Given the description of an element on the screen output the (x, y) to click on. 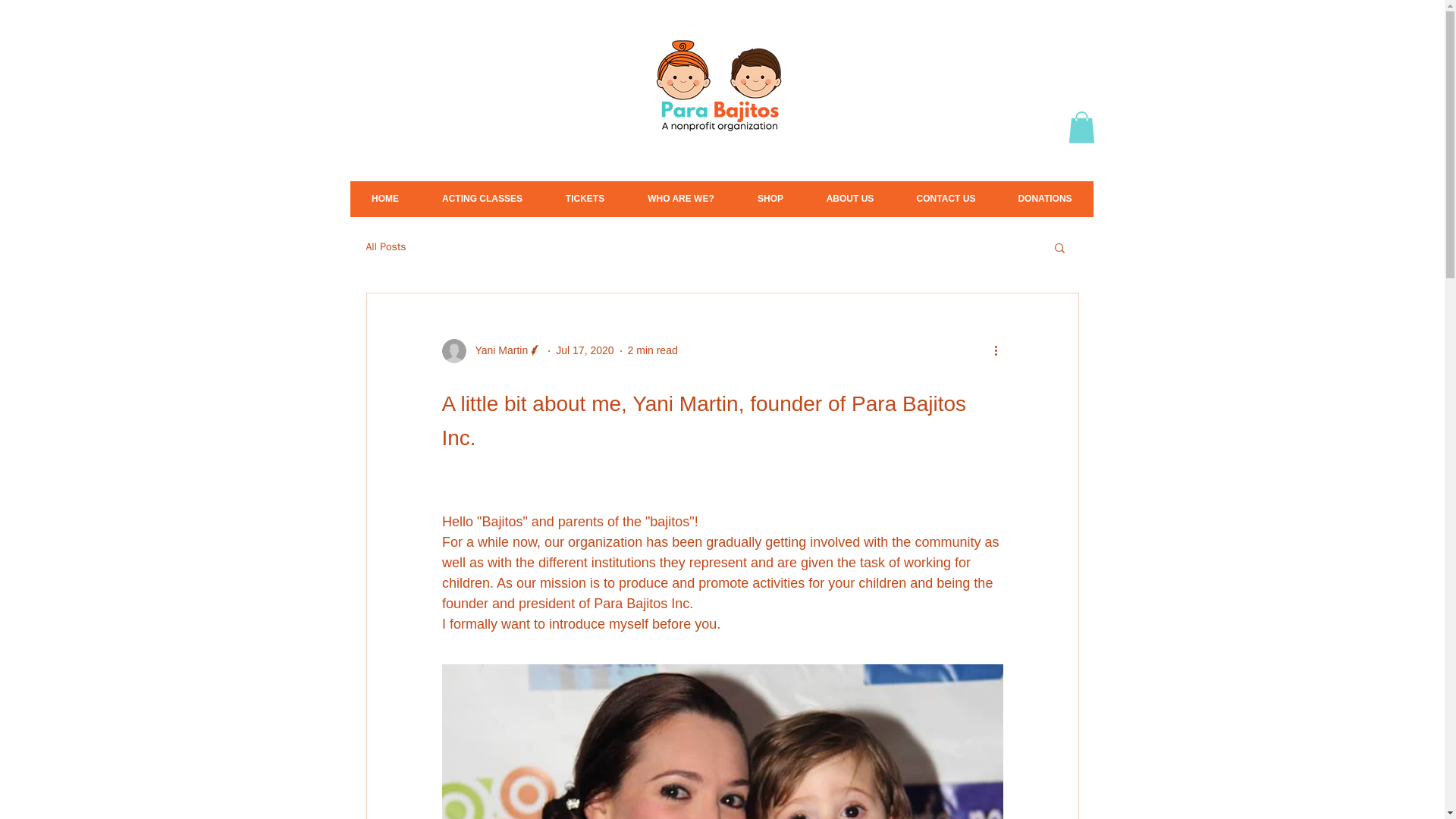
WHO ARE WE? (681, 198)
ACTING CLASSES (481, 198)
DONATIONS (1044, 198)
Yani Martin (491, 351)
CONTACT US (945, 198)
Yani Martin (496, 350)
Jul 17, 2020 (584, 349)
HOME (385, 198)
ABOUT US (850, 198)
All Posts (385, 246)
2 min read (652, 349)
SHOP (770, 198)
TICKETS (585, 198)
